Given the description of an element on the screen output the (x, y) to click on. 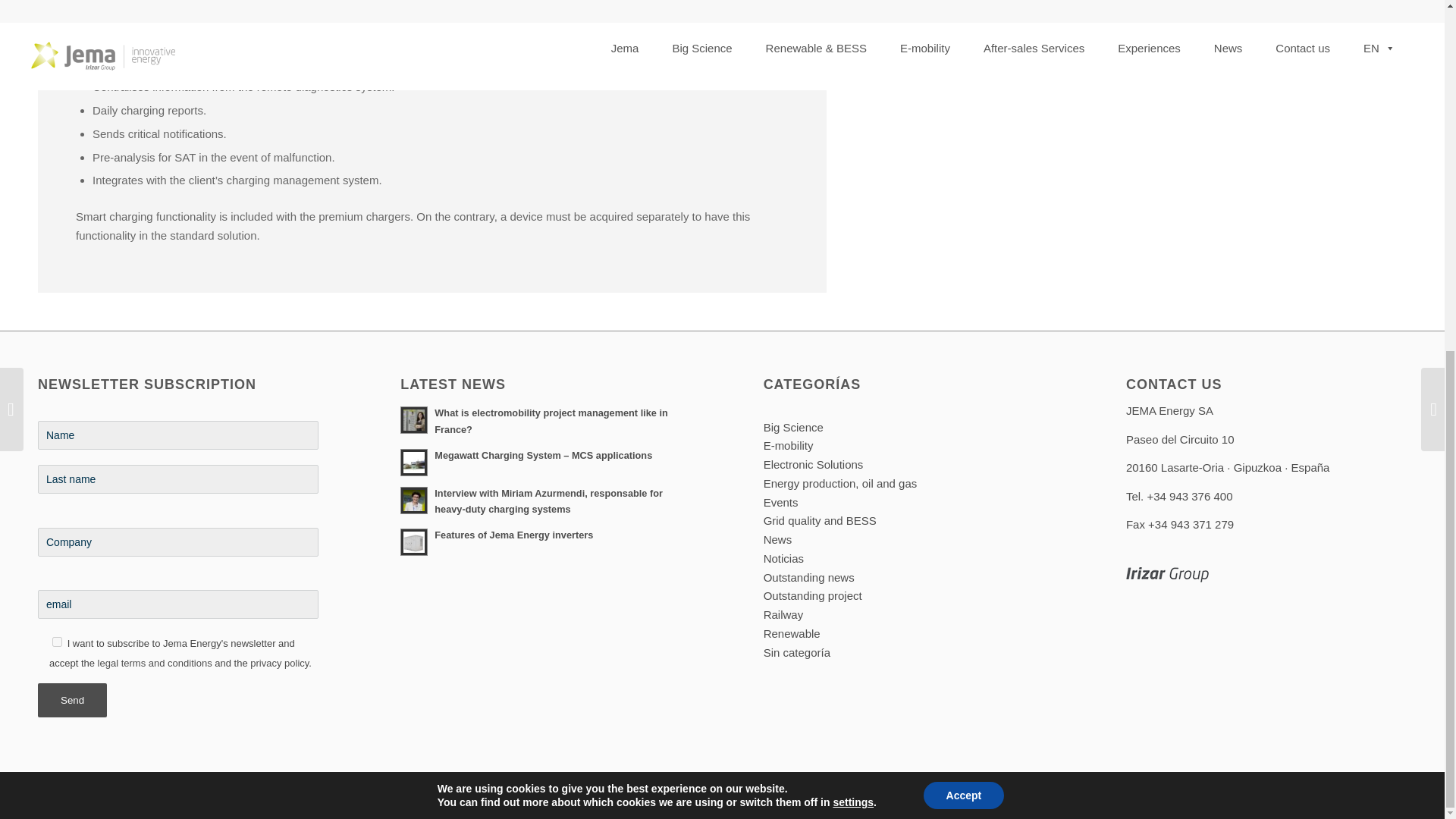
Name (177, 434)
Send (71, 700)
Electronic Solutions (812, 463)
Last name (177, 479)
Noticias (782, 558)
Linkedin (1349, 796)
Vimeo (1372, 796)
What is electromobility project management like in France? (540, 420)
Company (177, 541)
Smart Charging System (1157, 5)
Outstanding project (811, 594)
Grid quality and BESS (819, 520)
1 (57, 642)
Features of Jema Energy inverters (540, 540)
